Given the description of an element on the screen output the (x, y) to click on. 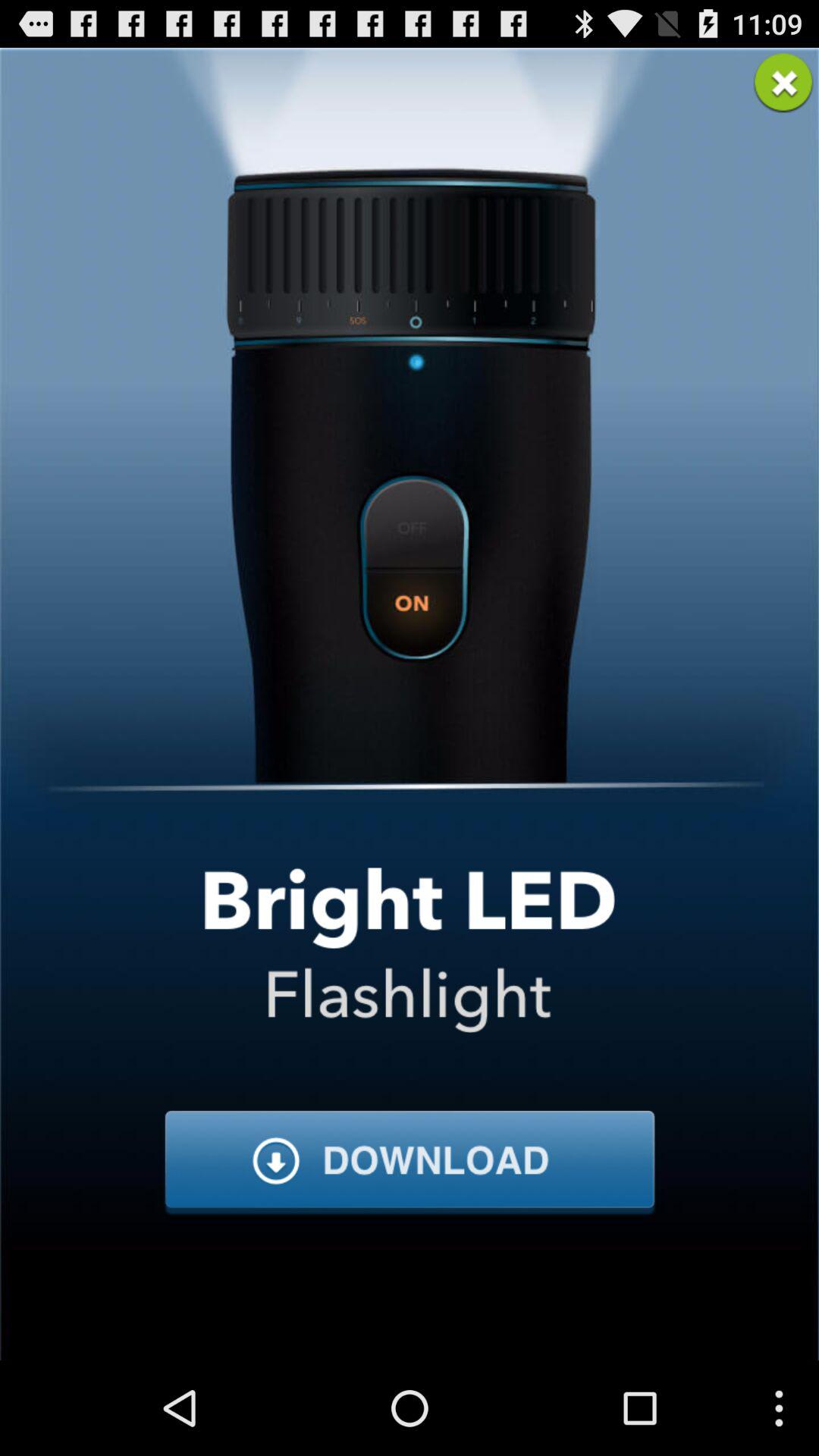
go to close oppsens (783, 83)
